Given the description of an element on the screen output the (x, y) to click on. 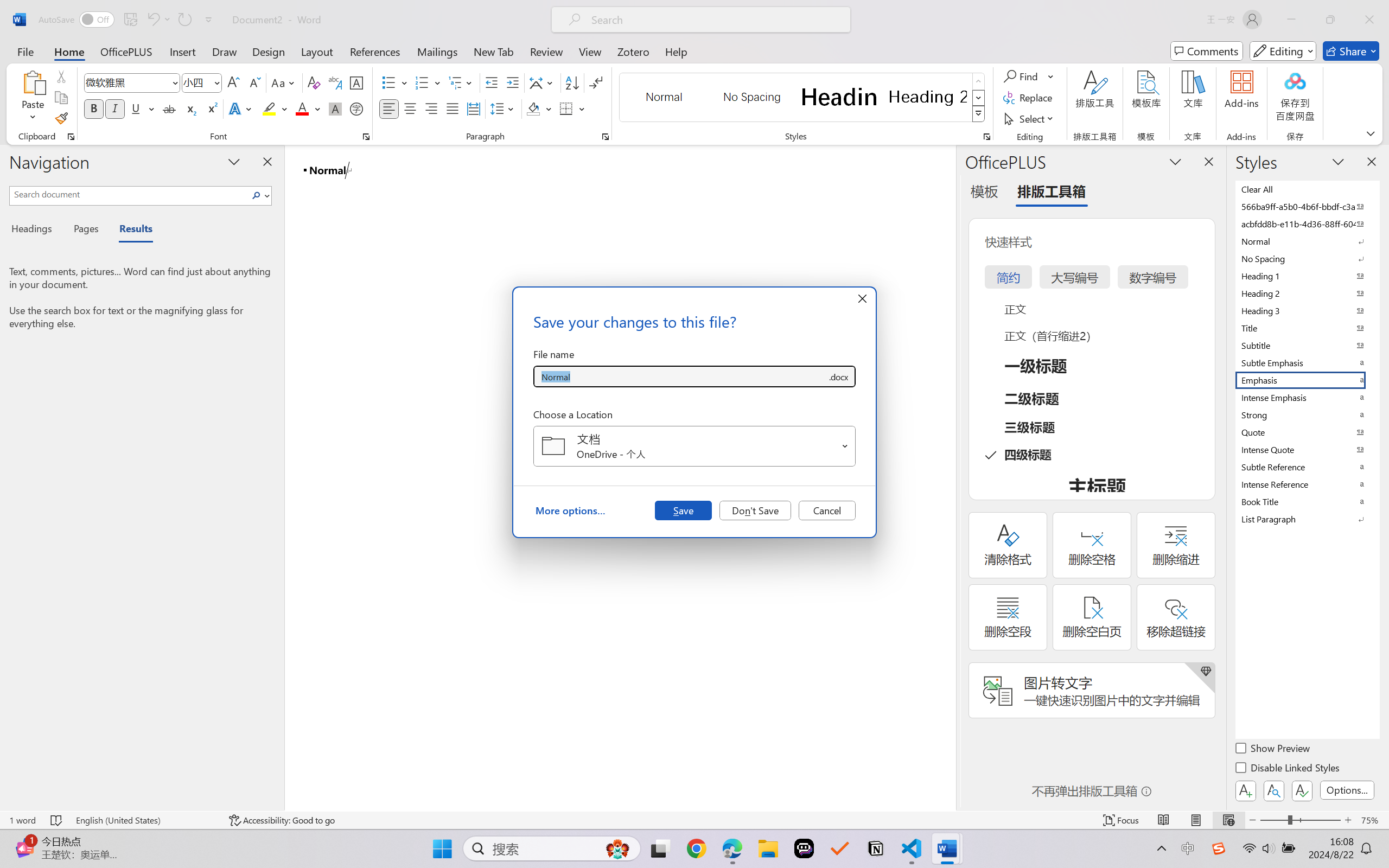
Class: MsoCommandBar (694, 819)
Row up (978, 81)
Options... (1346, 789)
Print Layout (1196, 819)
Mode (1283, 50)
Save as type (837, 376)
Bullets (388, 82)
Review (546, 51)
Spelling and Grammar Check No Errors (56, 819)
Heading 2 (927, 96)
